Given the description of an element on the screen output the (x, y) to click on. 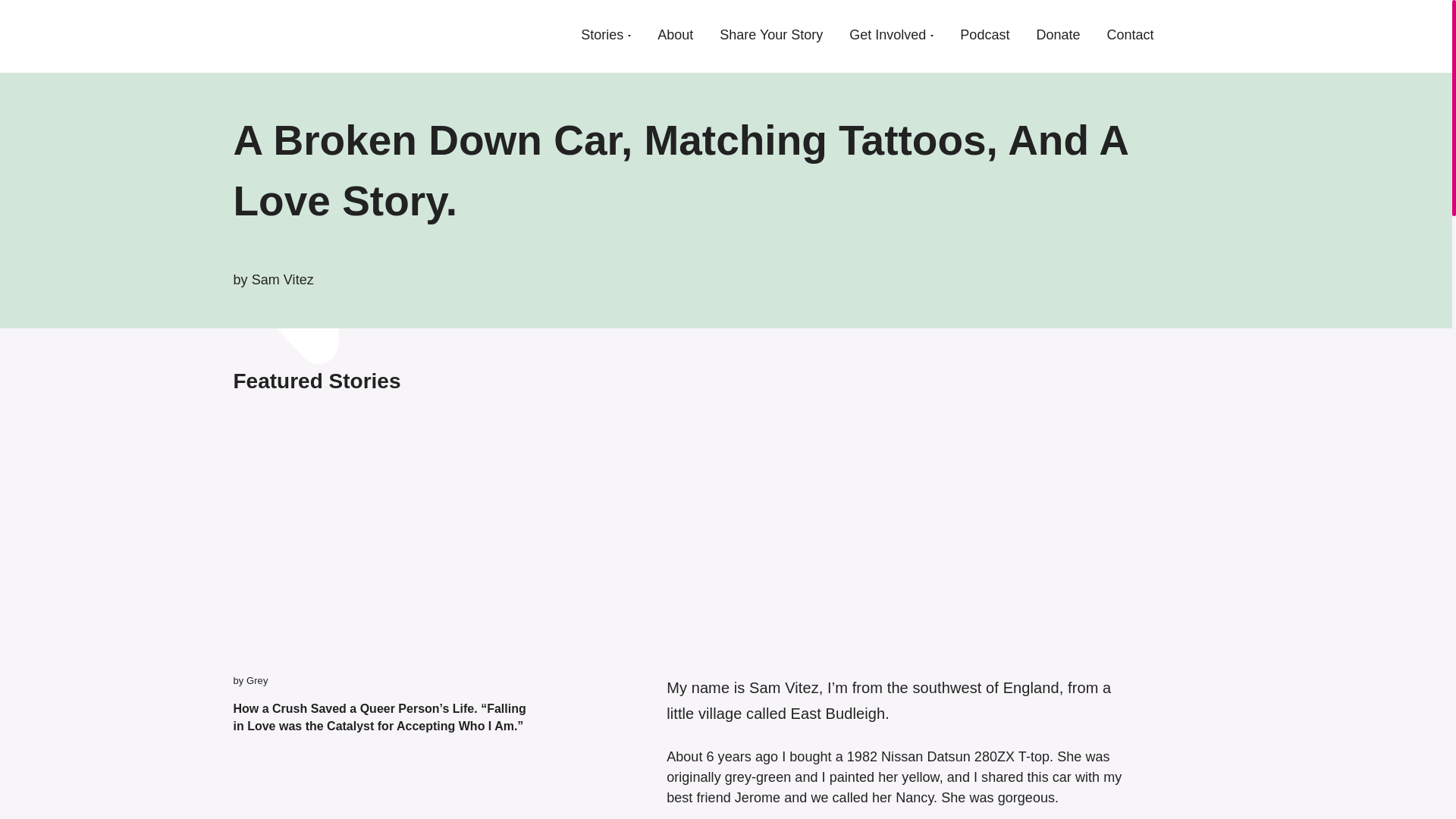
About (675, 34)
Stories (601, 34)
Contact (1129, 34)
Donate (1057, 34)
Podcast (984, 34)
Get Involved (887, 34)
Share Your Story (770, 34)
